Given the description of an element on the screen output the (x, y) to click on. 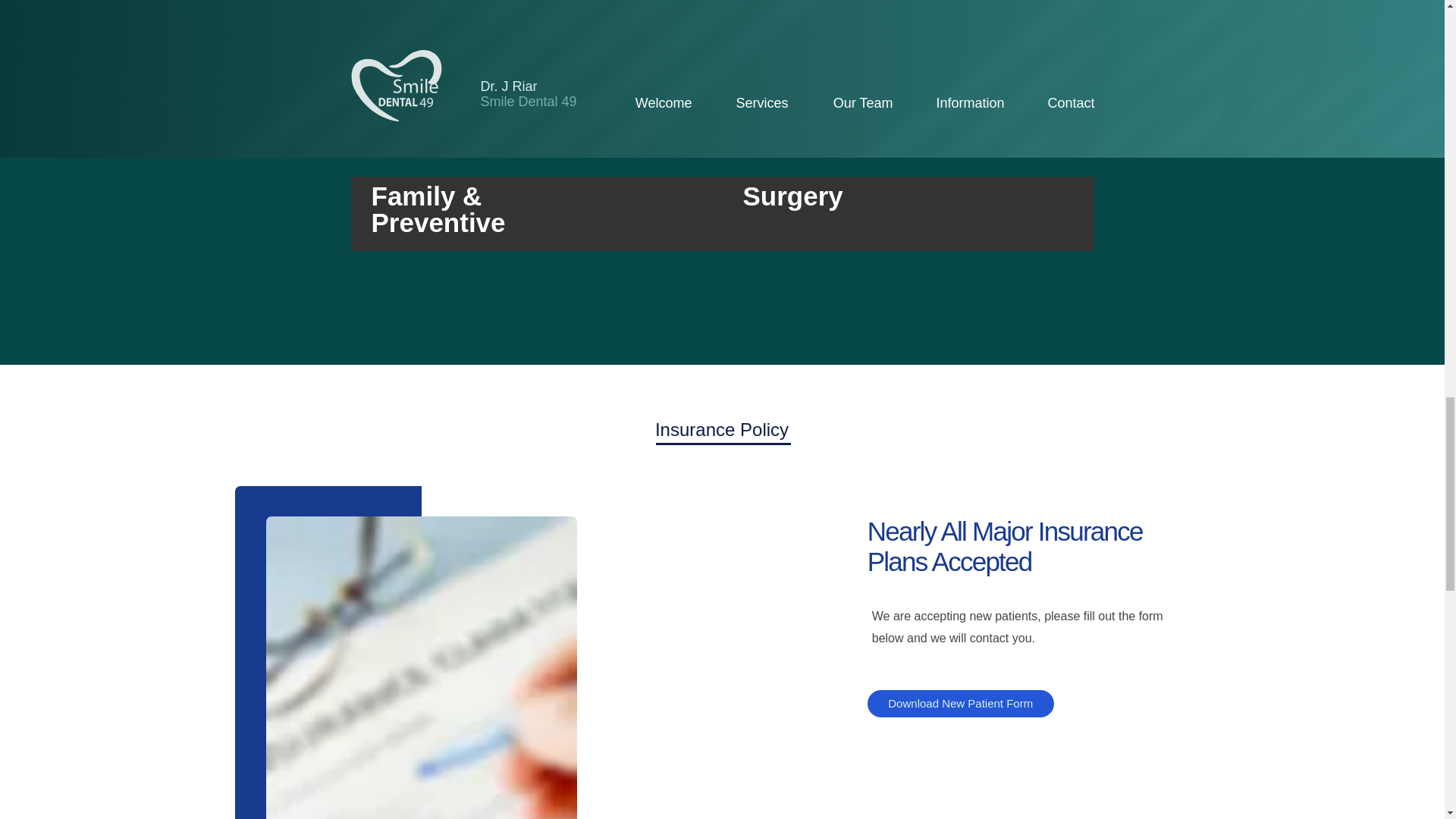
Download New Patient Form (960, 703)
